Given the description of an element on the screen output the (x, y) to click on. 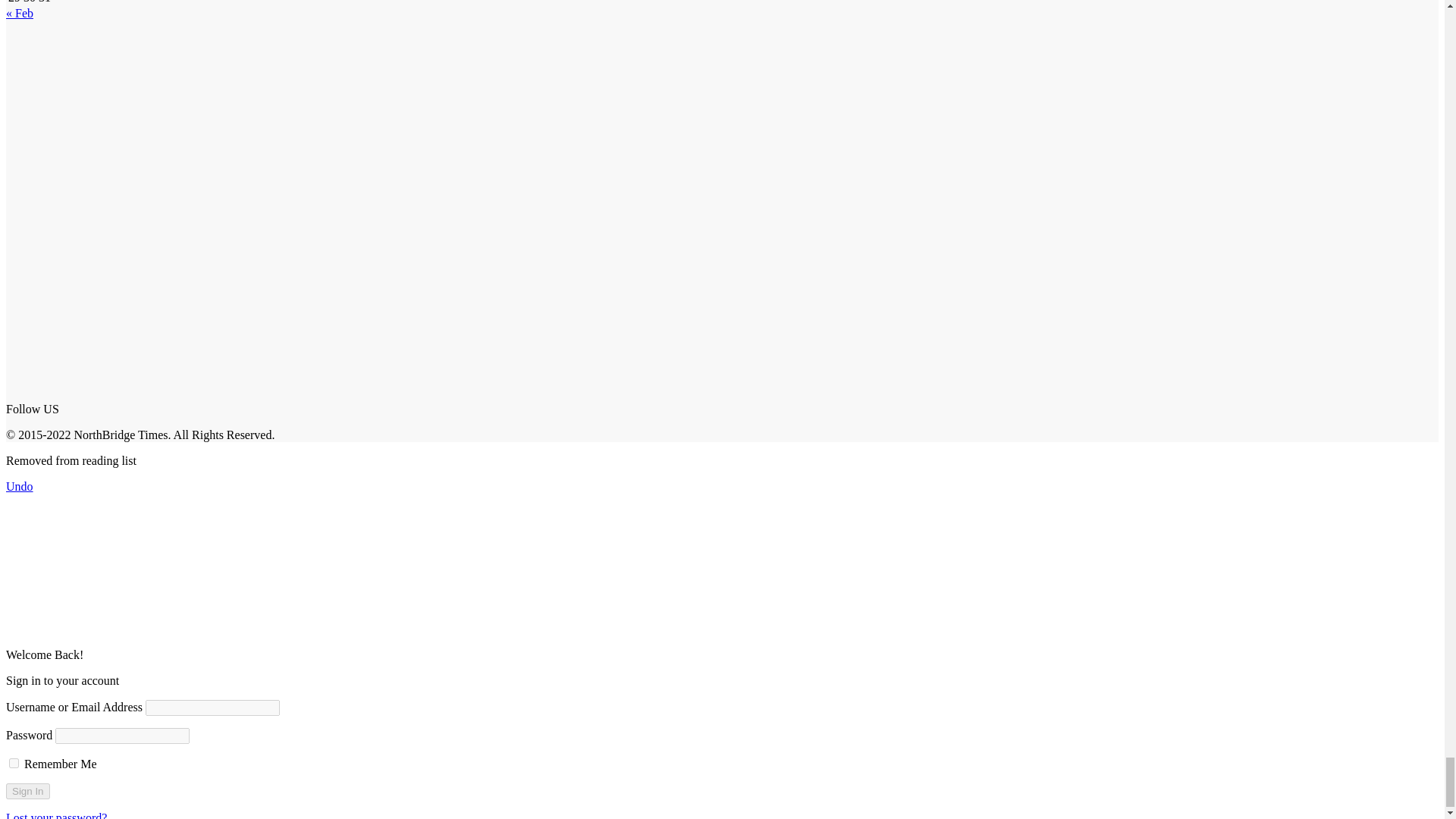
Sign In (27, 790)
forever (13, 763)
